Given the description of an element on the screen output the (x, y) to click on. 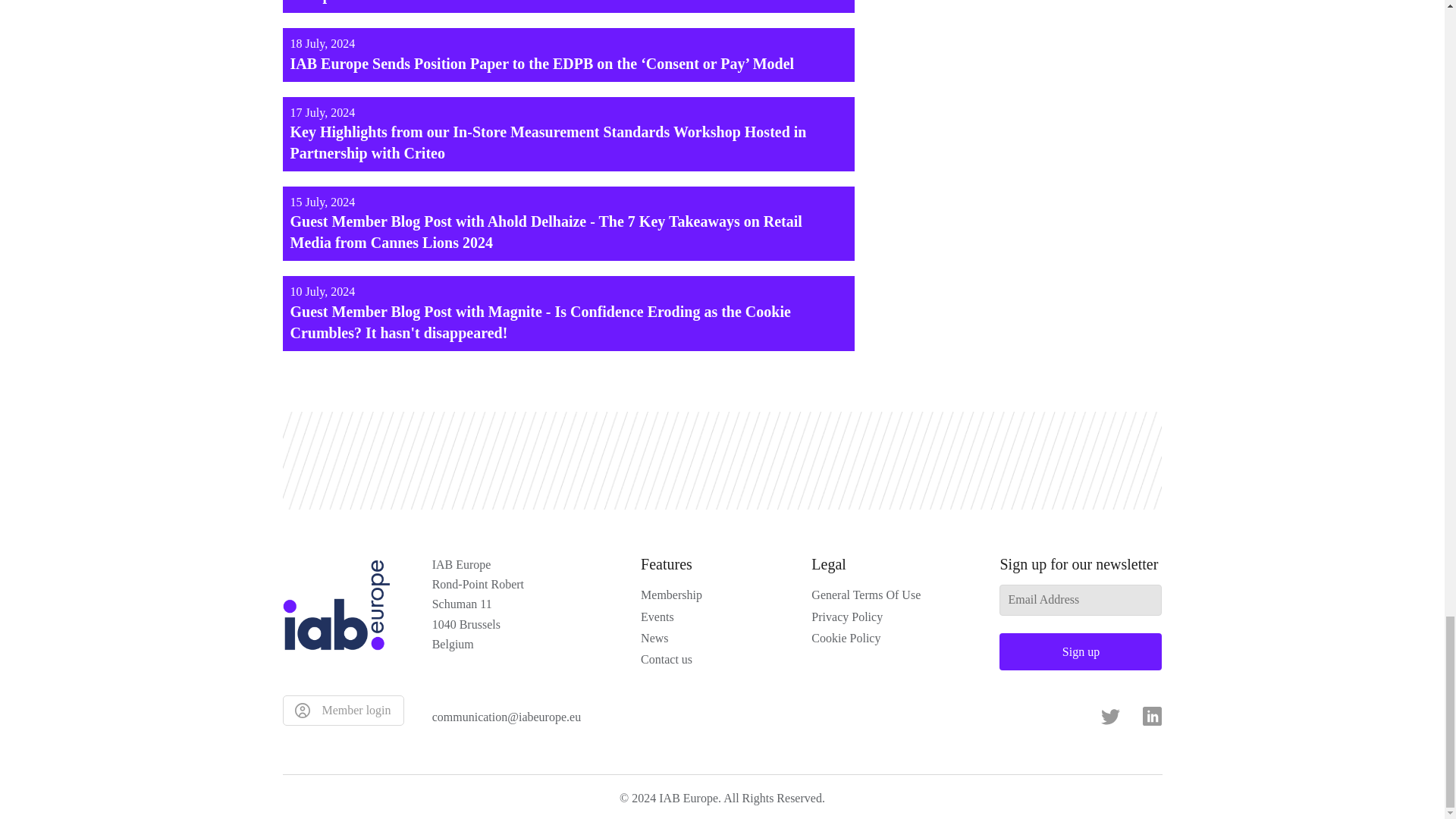
Sign up (1079, 651)
